Given the description of an element on the screen output the (x, y) to click on. 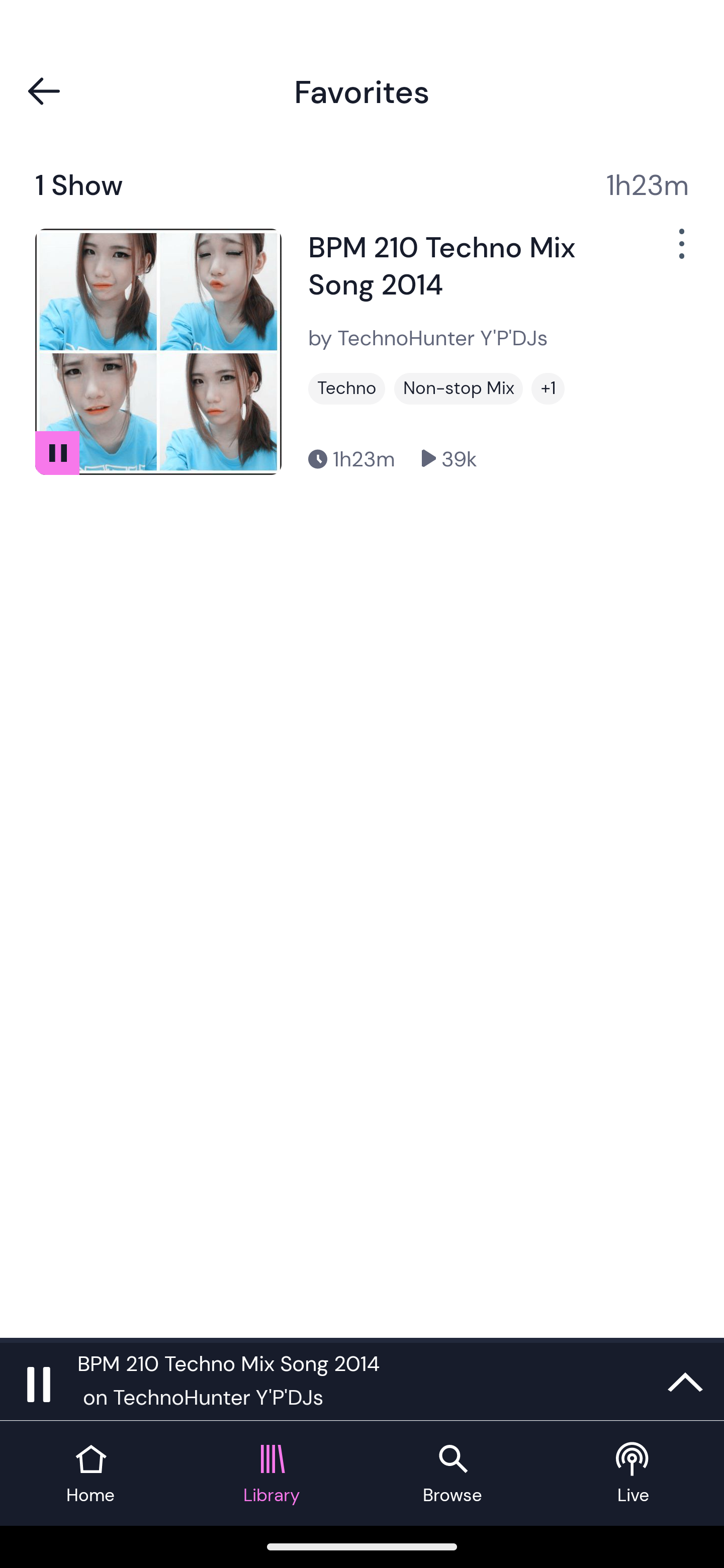
Show Options Menu Button (679, 251)
Techno (346, 388)
Non-stop Mix (457, 388)
Home tab Home (90, 1473)
Library tab Library (271, 1473)
Browse tab Browse (452, 1473)
Live tab Live (633, 1473)
